Given the description of an element on the screen output the (x, y) to click on. 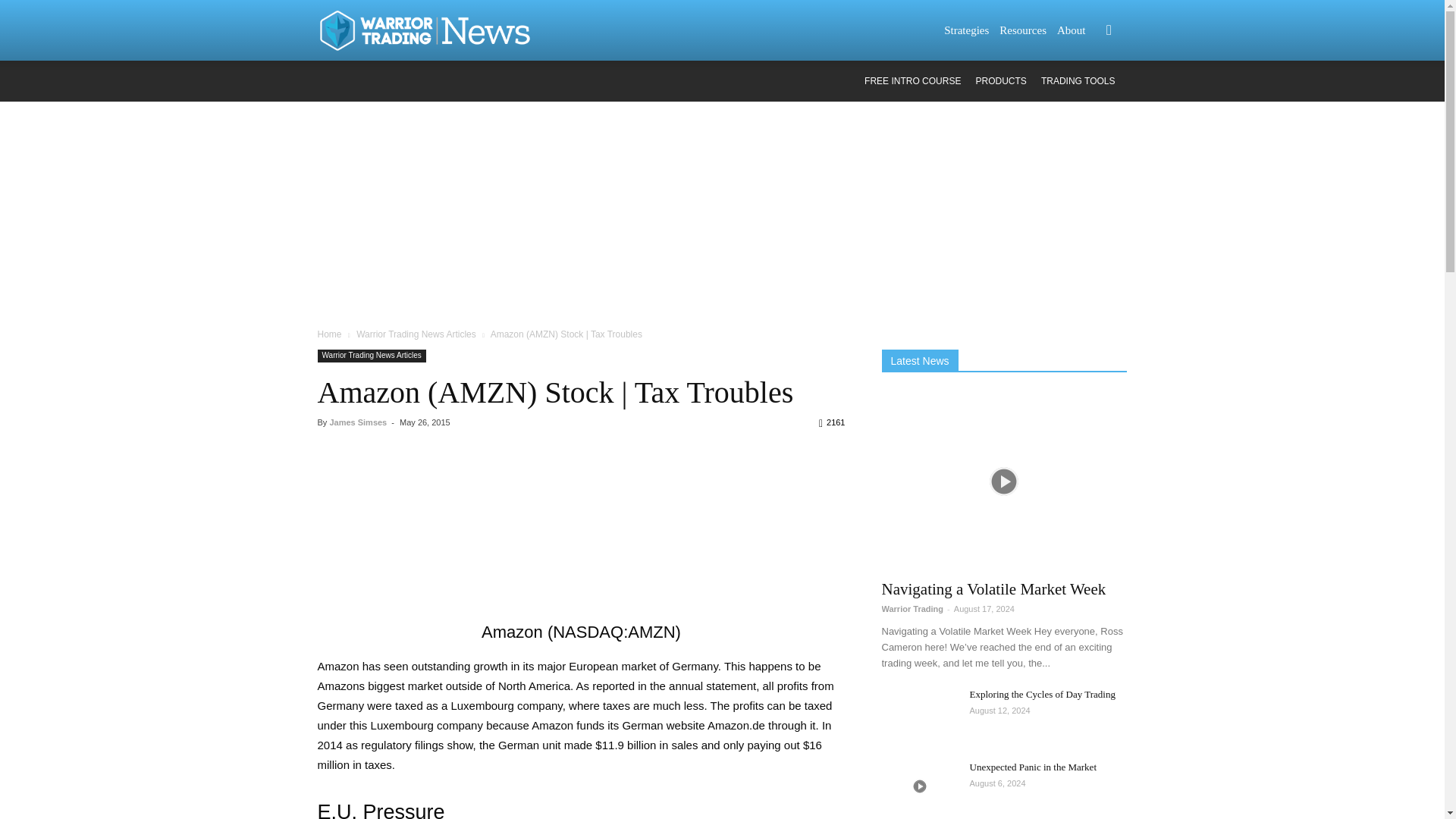
Strategies (966, 30)
View all posts in Warrior Trading News Articles (416, 334)
PRODUCTS (1000, 81)
Resources (1022, 30)
Navigating a Volatile Market Week (1003, 481)
FREE INTRO COURSE (912, 81)
